Given the description of an element on the screen output the (x, y) to click on. 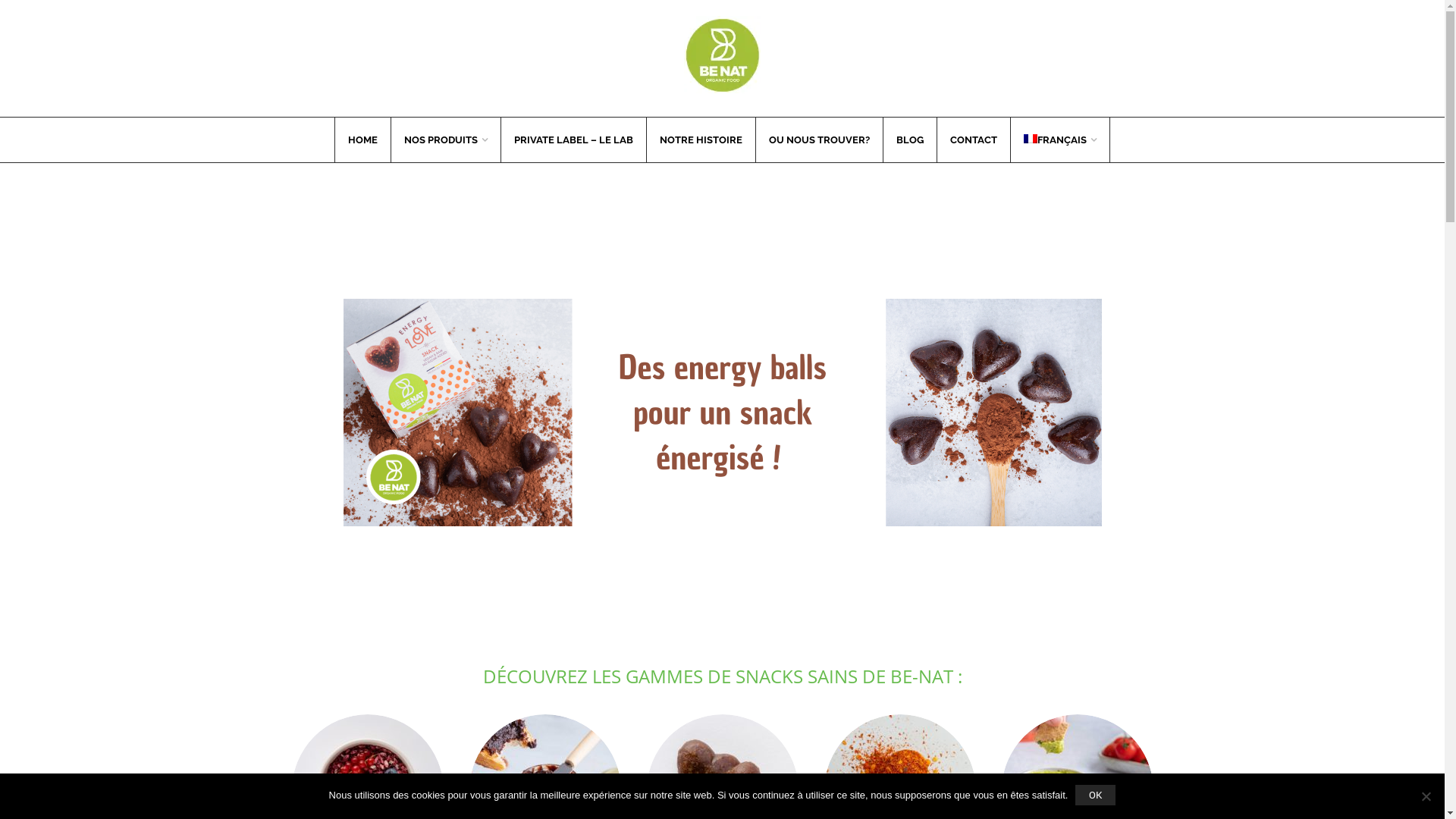
Non Element type: hover (1425, 795)
BLOG Element type: text (909, 139)
HOME Element type: text (362, 139)
OK Element type: text (1095, 794)
NOS PRODUITS Element type: text (445, 139)
NOTRE HISTOIRE Element type: text (700, 139)
CONTACT Element type: text (973, 139)
OU NOUS TROUVER? Element type: text (818, 139)
7 Element type: hover (721, 412)
